Given the description of an element on the screen output the (x, y) to click on. 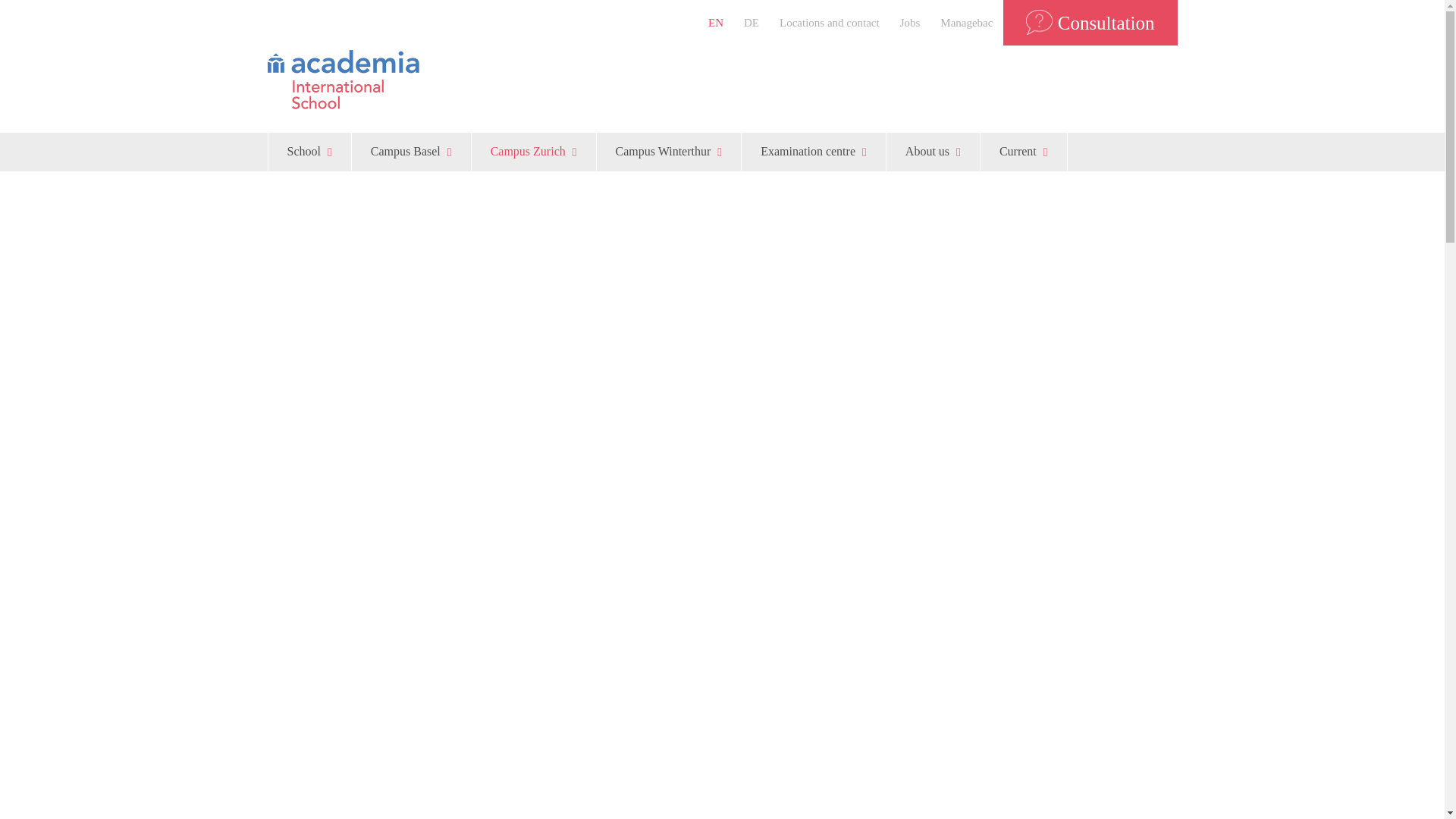
Managebac (966, 22)
School (308, 151)
Campus Basel (411, 151)
Locations and contact (829, 22)
Consultation (1089, 22)
